Given the description of an element on the screen output the (x, y) to click on. 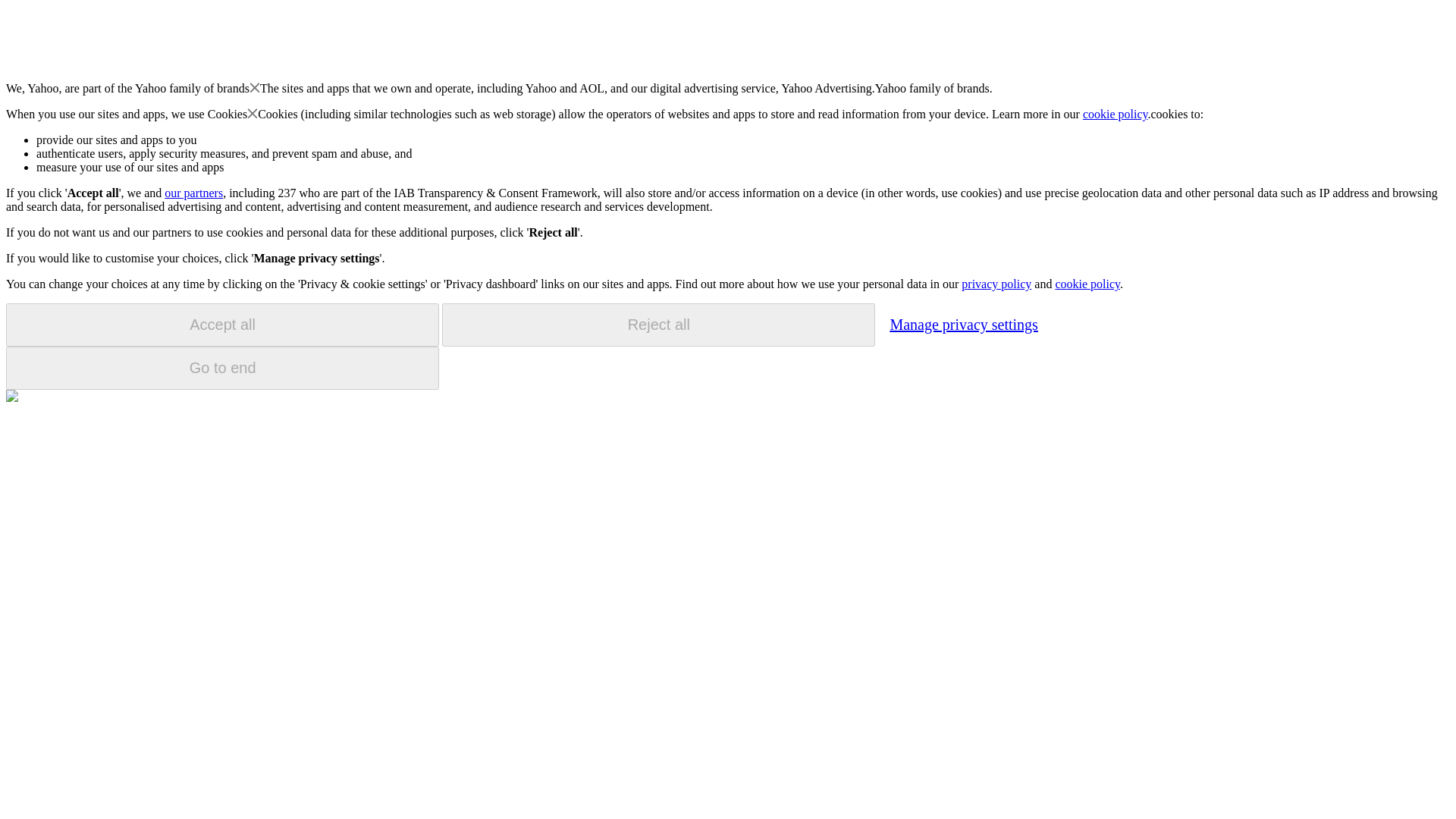
cookie policy (1086, 283)
cookie policy (1115, 113)
Accept all (222, 324)
our partners (193, 192)
Reject all (658, 324)
privacy policy (995, 283)
Manage privacy settings (963, 323)
Go to end (222, 367)
